Given the description of an element on the screen output the (x, y) to click on. 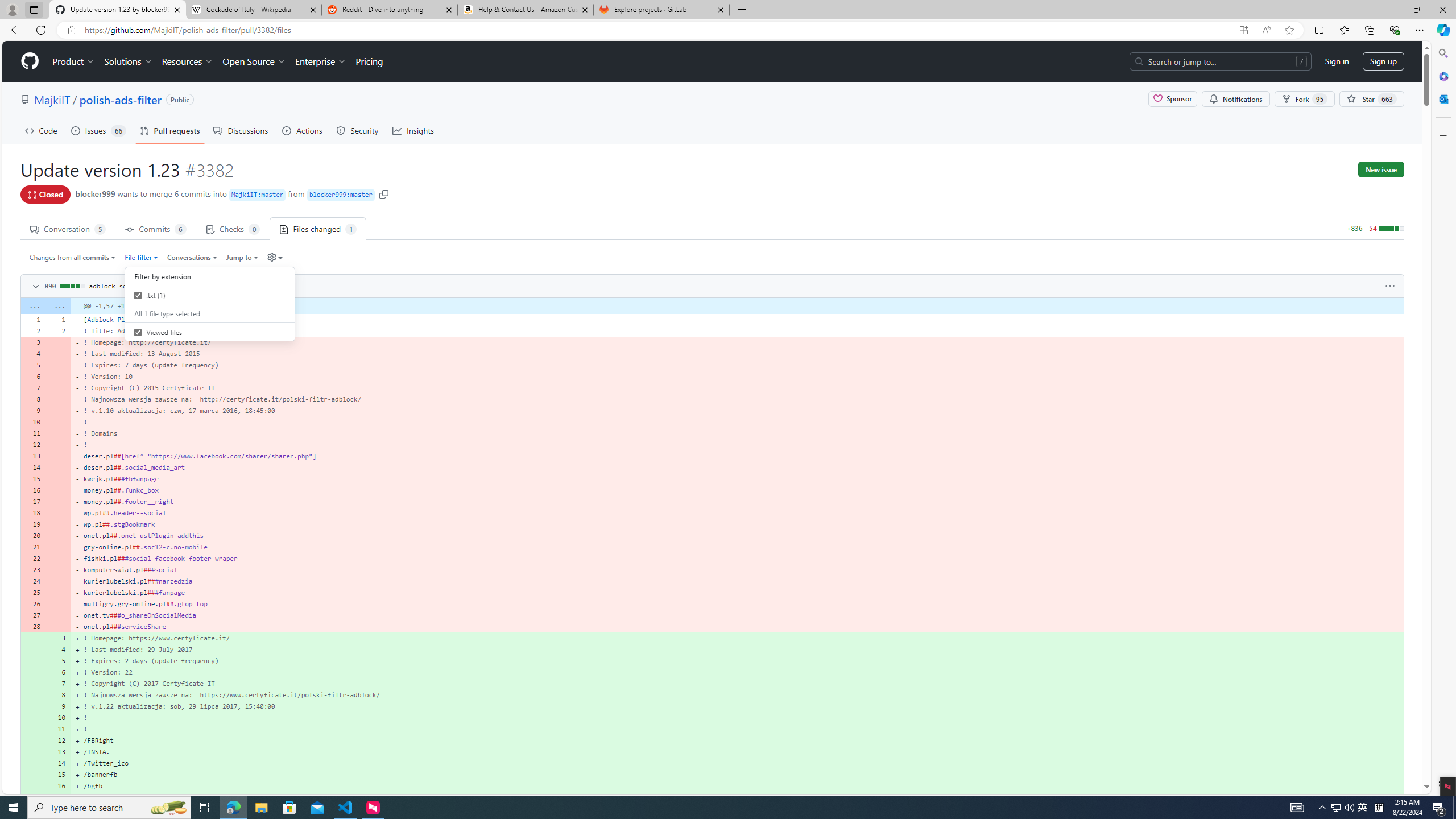
Actions (302, 130)
- onet.pl###serviceShare (737, 626)
Homepage (29, 61)
12 (58, 740)
@@ -1,57 +1,839 @@ (737, 305)
Sponsor MajkiIT/polish-ads-filter (1171, 98)
Enterprise (319, 60)
Class: SelectMenu js-file-filter (210, 306)
- ! Copyright (C) 2015 Certyficate IT (737, 387)
Help & Contact Us - Amazon Customer Service (525, 9)
Viewed files (137, 331)
- gry-online.pl##.soc12-c.no-mobile (737, 546)
